Given the description of an element on the screen output the (x, y) to click on. 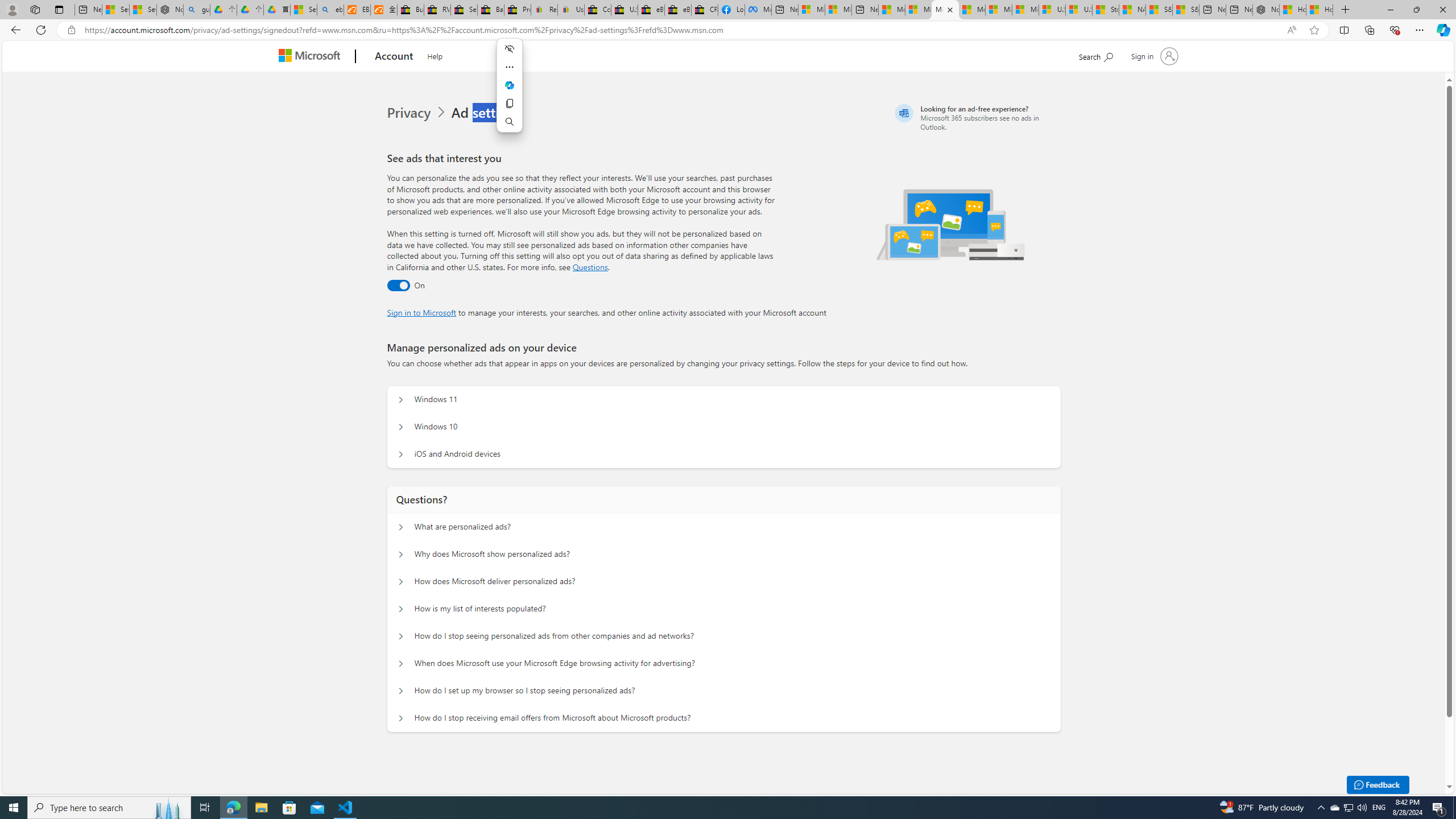
Illustration of multiple devices (951, 224)
Hide menu (509, 49)
Ask Copilot (509, 85)
Help (434, 54)
Privacy (418, 112)
Go to Questions section (590, 266)
